Given the description of an element on the screen output the (x, y) to click on. 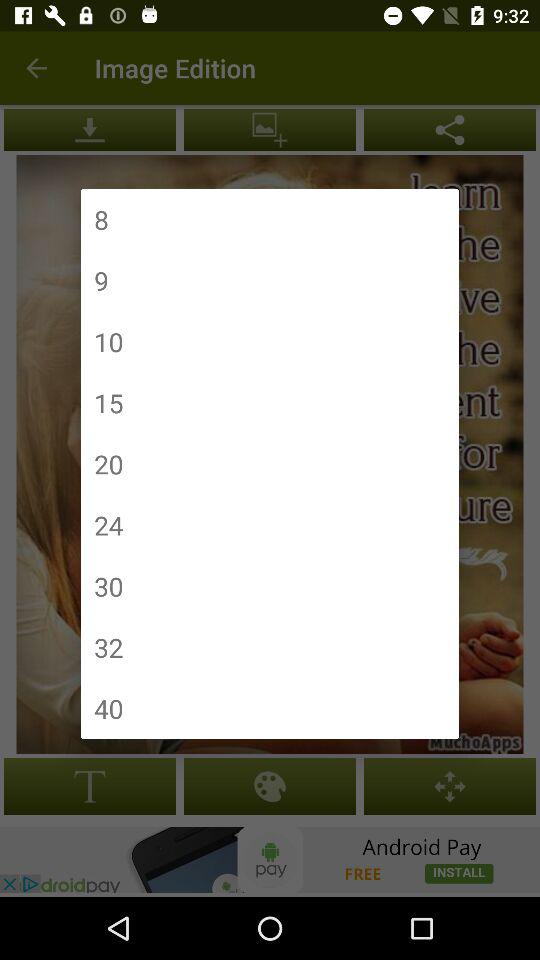
launch item below 9 icon (108, 341)
